Given the description of an element on the screen output the (x, y) to click on. 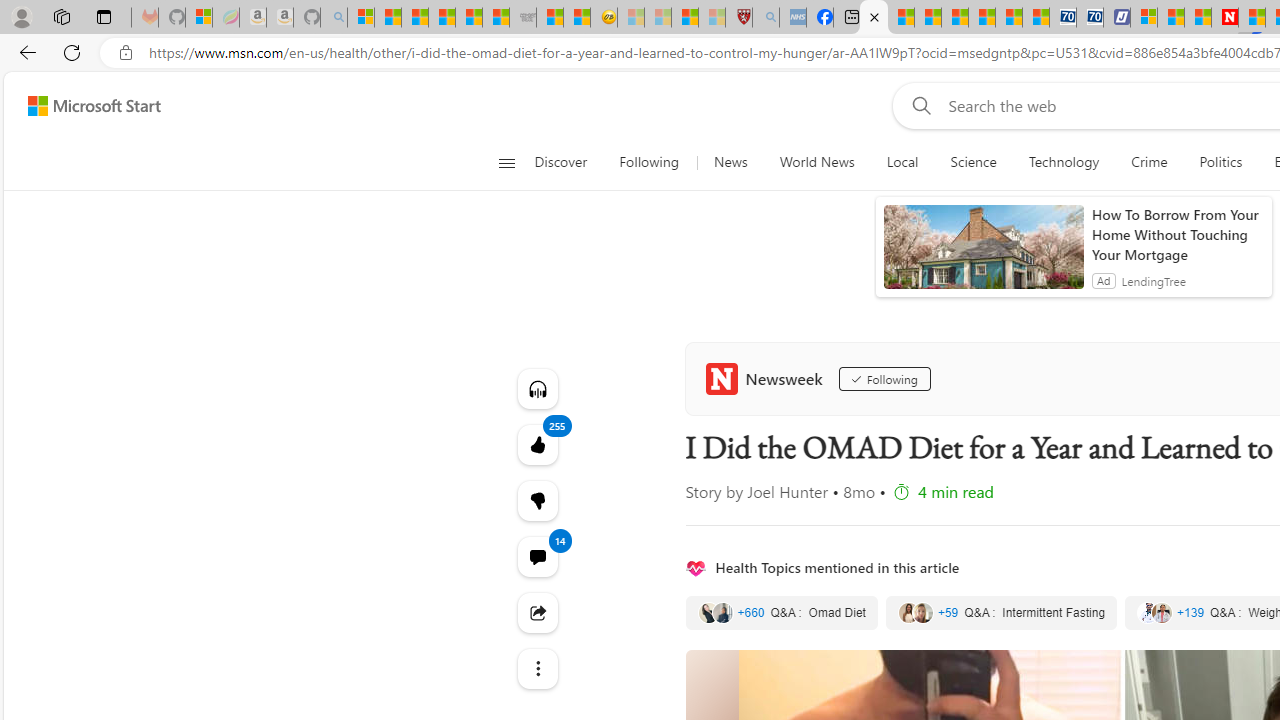
Intermittent Fasting (1000, 613)
The Weather Channel - MSN (414, 17)
255 (537, 500)
anim-content (983, 255)
